Given the description of an element on the screen output the (x, y) to click on. 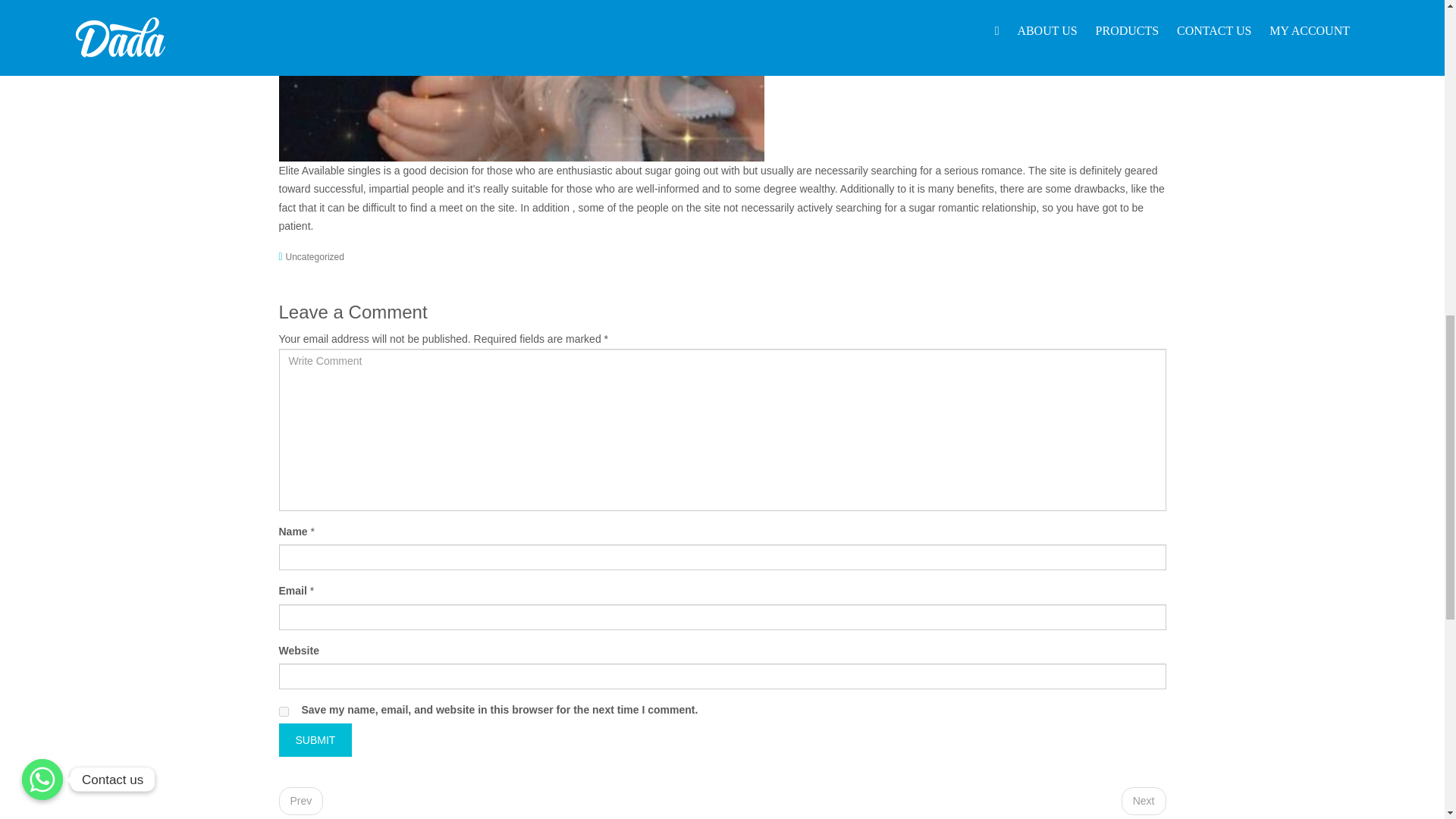
Prev (301, 800)
Uncategorized (314, 256)
Submit (315, 740)
yes (283, 711)
Next (1143, 800)
Submit (315, 740)
